Given the description of an element on the screen output the (x, y) to click on. 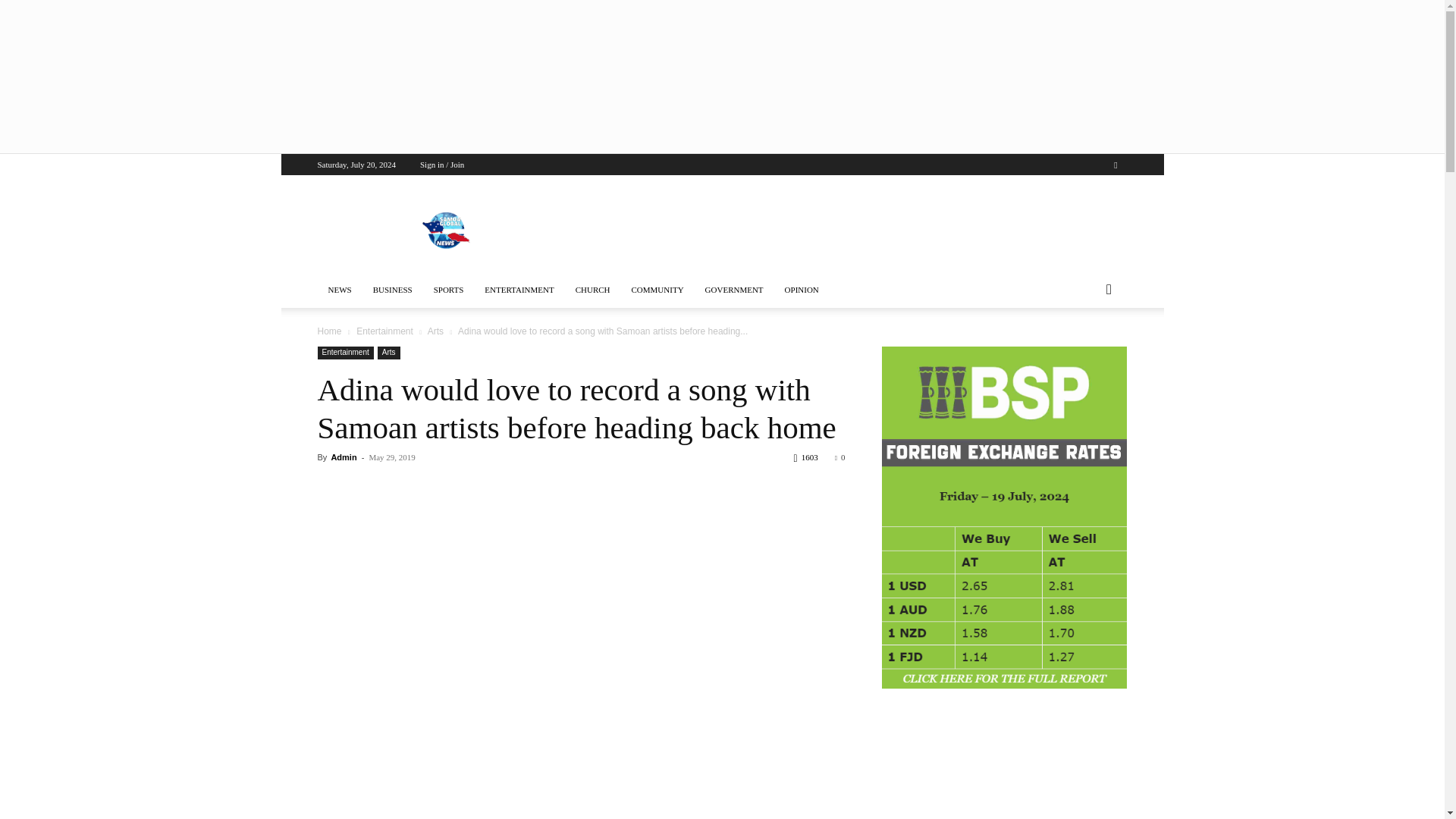
Facebook (1114, 164)
